Given the description of an element on the screen output the (x, y) to click on. 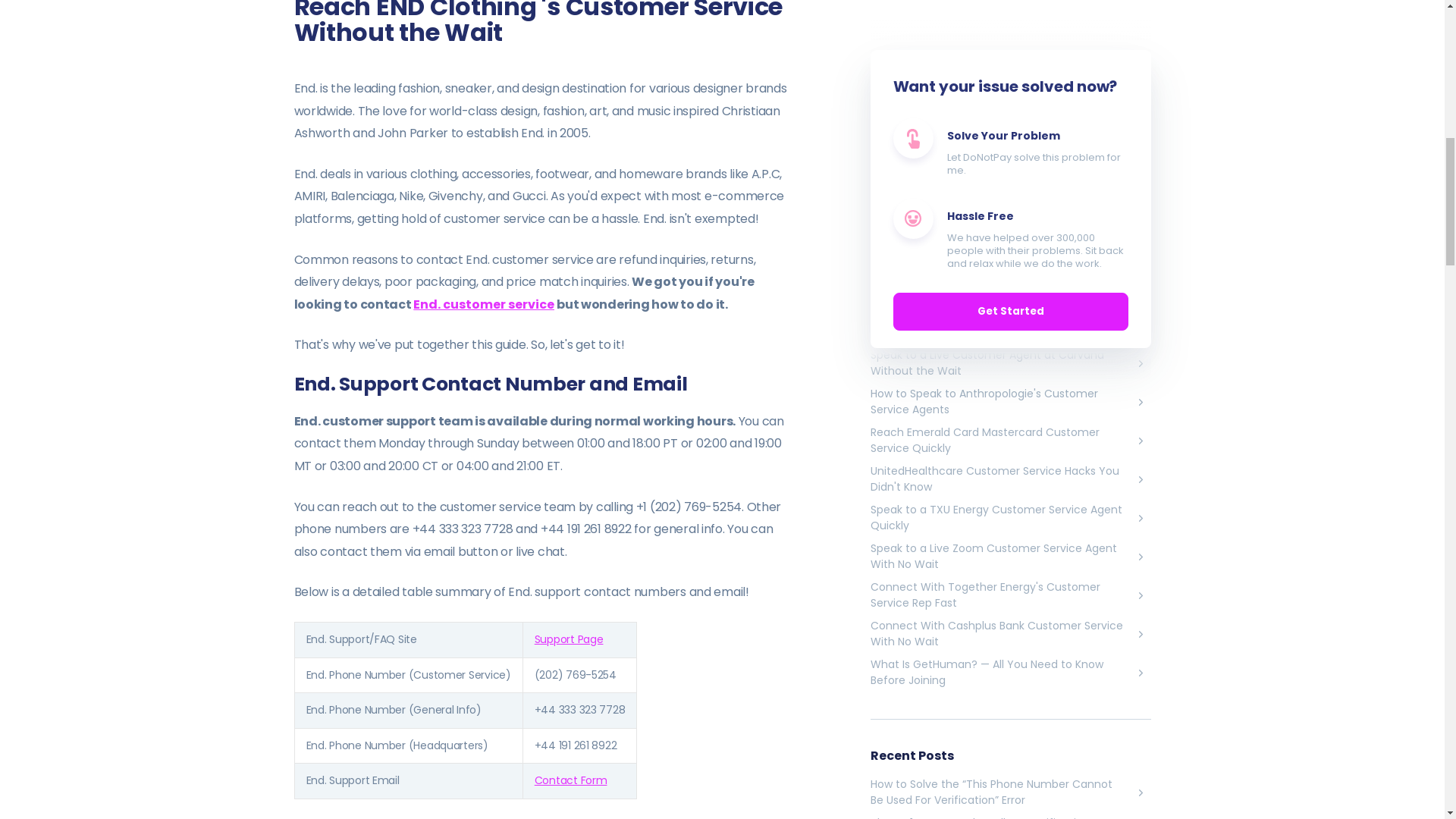
Support Page (569, 639)
Contact Form (570, 780)
End. customer service (483, 303)
